Given the description of an element on the screen output the (x, y) to click on. 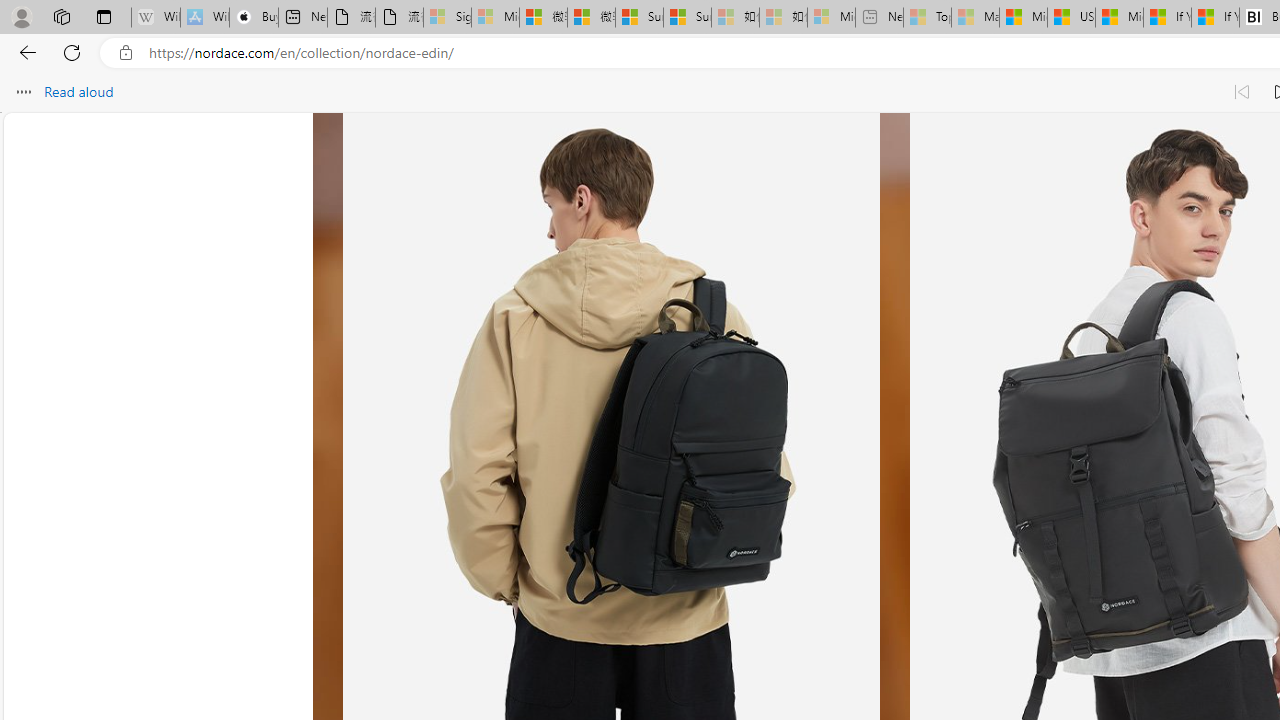
Top Stories - MSN - Sleeping (927, 17)
Class: flickity-button-icon (396, 436)
US Heat Deaths Soared To Record High Last Year (1071, 17)
